Given the description of an element on the screen output the (x, y) to click on. 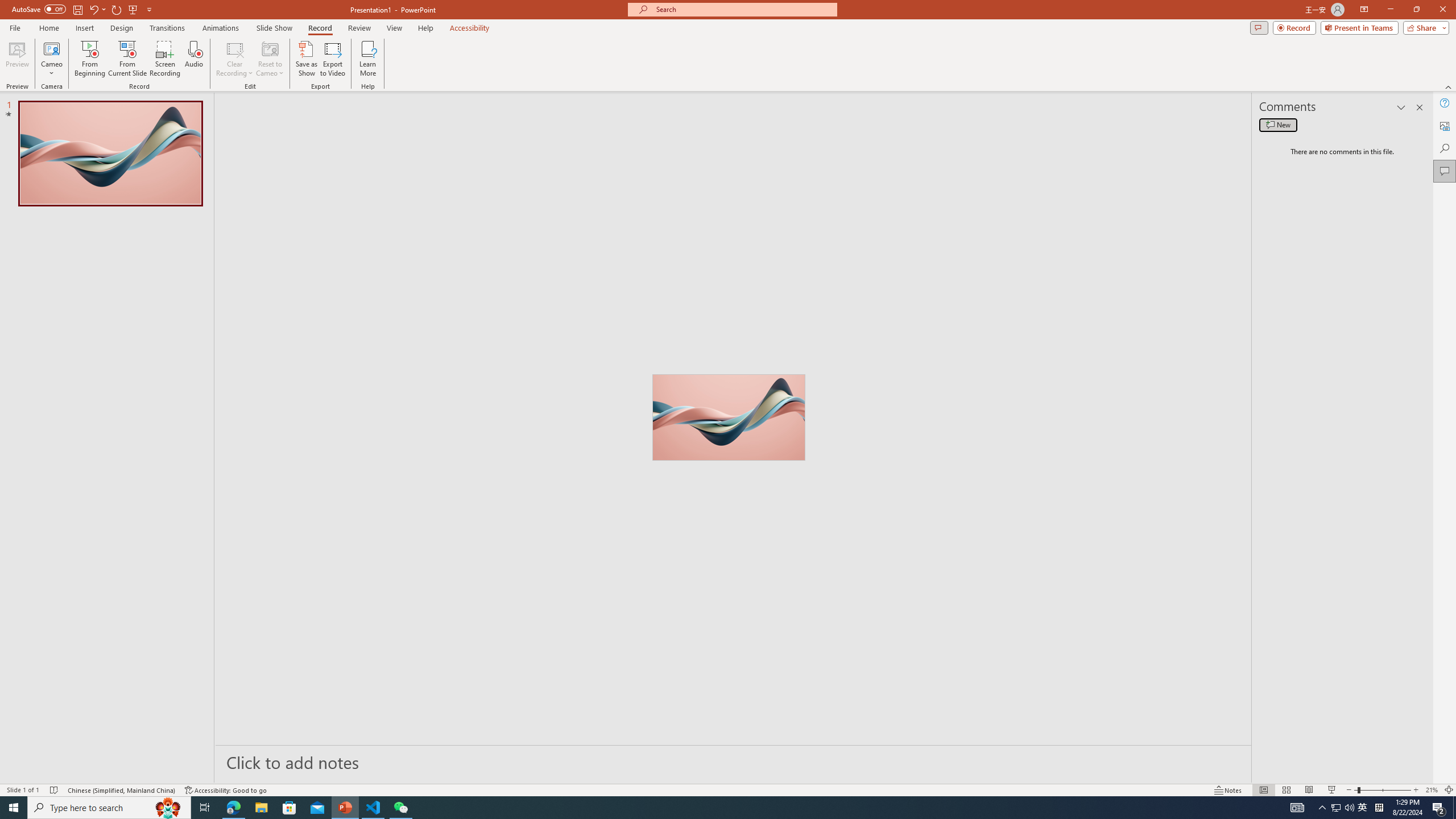
Clear Recording (234, 58)
Zoom 21% (1431, 790)
From Beginning... (89, 58)
